Given the description of an element on the screen output the (x, y) to click on. 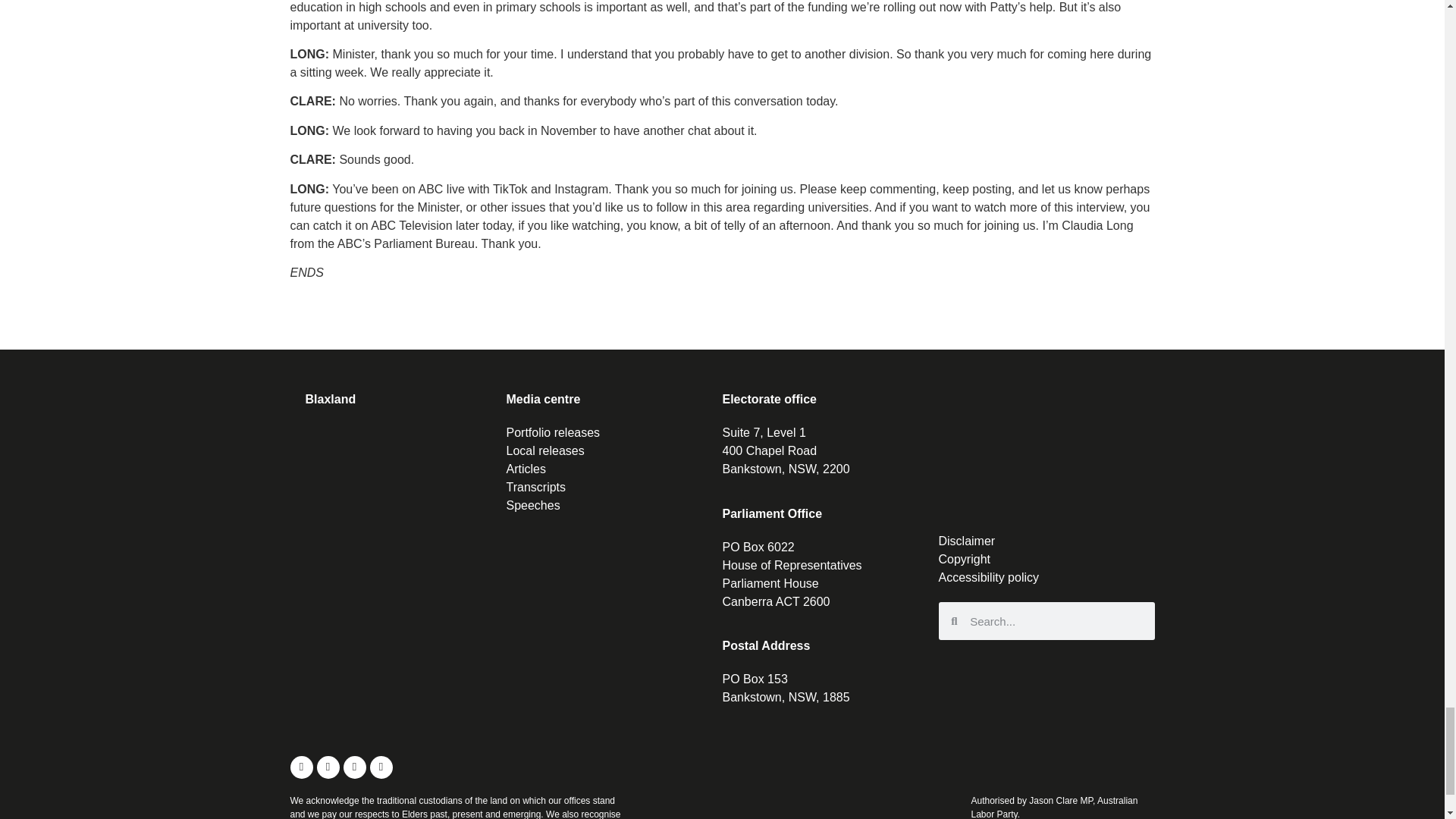
Blaxland (329, 399)
Disclaimer (1046, 541)
Media centre (543, 399)
Articles (614, 469)
Accessibility policy (1046, 577)
Portfolio releases (614, 433)
Speeches (614, 505)
Copyright (1046, 559)
Transcripts (614, 487)
Local releases (614, 451)
